Given the description of an element on the screen output the (x, y) to click on. 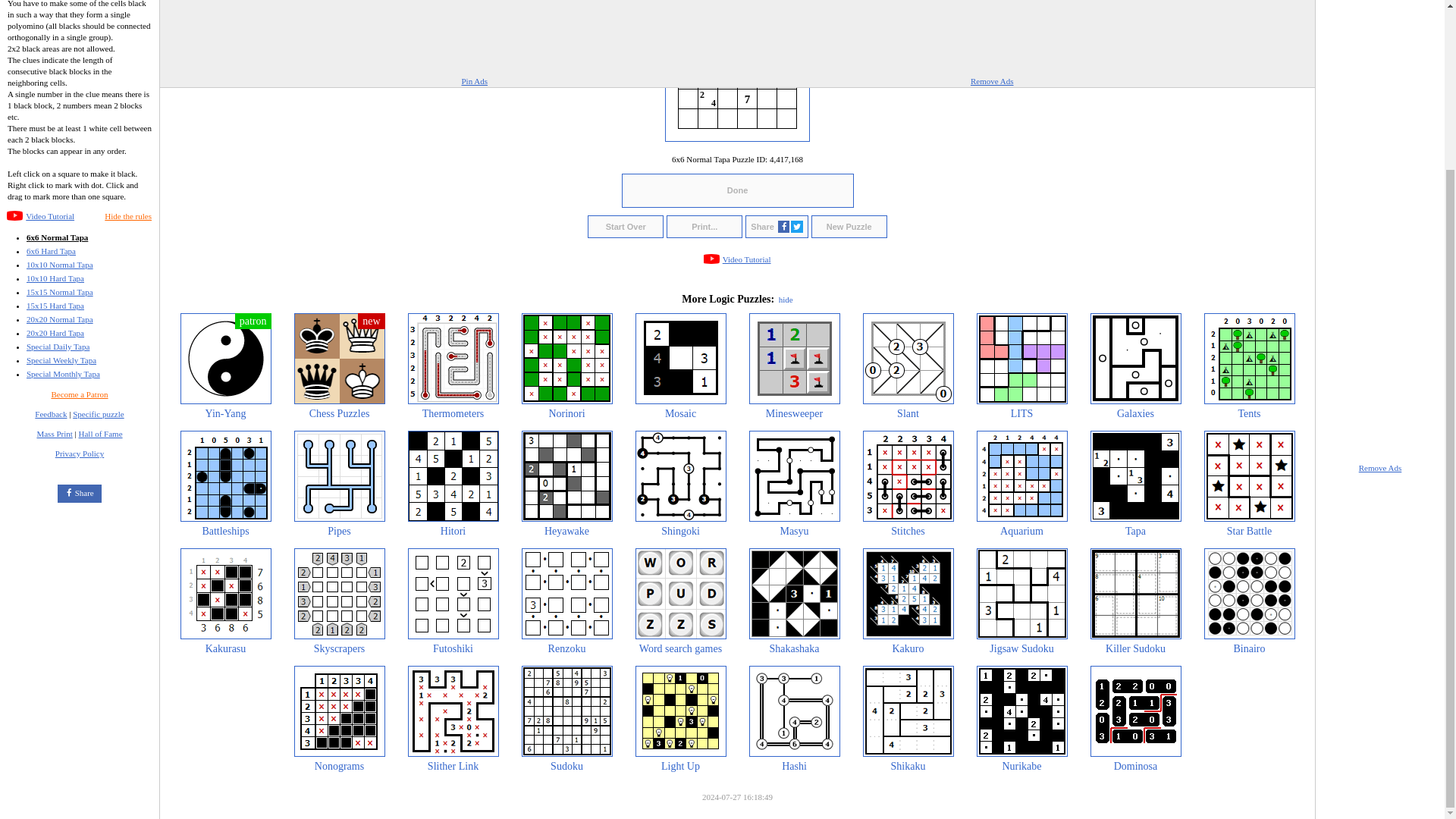
Become a Patron (78, 393)
15x15 Normal Tapa (59, 291)
 Print...  (704, 226)
Video Tutorial (50, 215)
Share (79, 493)
Special Monthly Tapa (63, 373)
Privacy Policy (79, 452)
Special Weekly Tapa (61, 359)
Mass Print (53, 433)
20x20 Hard Tapa (55, 332)
20x20 Normal Tapa (59, 318)
10x10 Normal Tapa (59, 264)
15x15 Hard Tapa (55, 305)
Video Tutorial (50, 215)
6x6 Normal Tapa (56, 236)
